Given the description of an element on the screen output the (x, y) to click on. 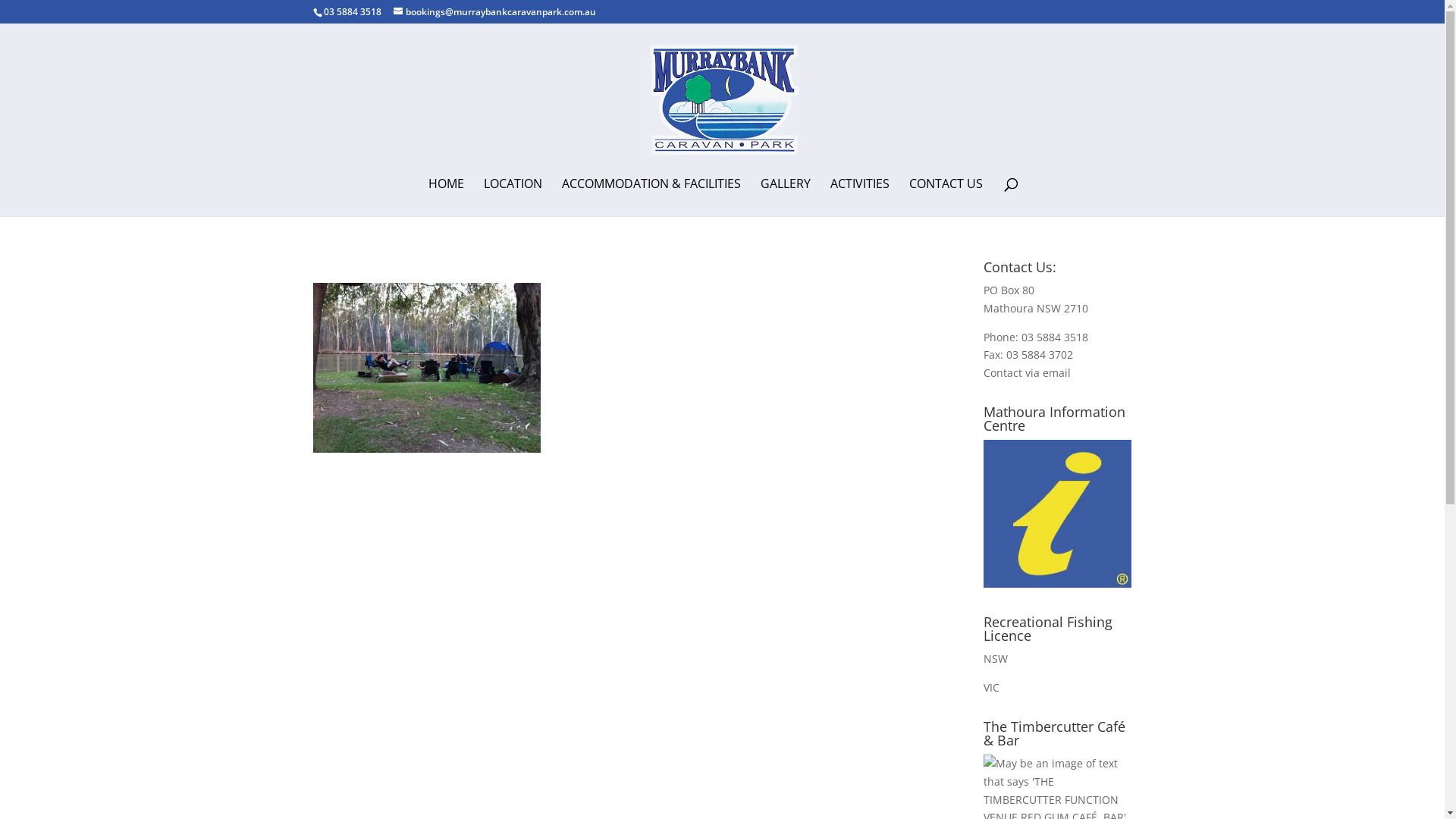
bookings@murraybankcaravanpark.com.au Element type: text (493, 11)
VIC Element type: text (991, 687)
HOME Element type: text (446, 197)
ACCOMMODATION & FACILITIES Element type: text (650, 197)
LOCATION Element type: text (512, 197)
ACTIVITIES Element type: text (859, 197)
Contact via email Element type: text (1026, 372)
GALLERY Element type: text (785, 197)
NSW Element type: text (995, 658)
CONTACT US Element type: text (945, 197)
